Given the description of an element on the screen output the (x, y) to click on. 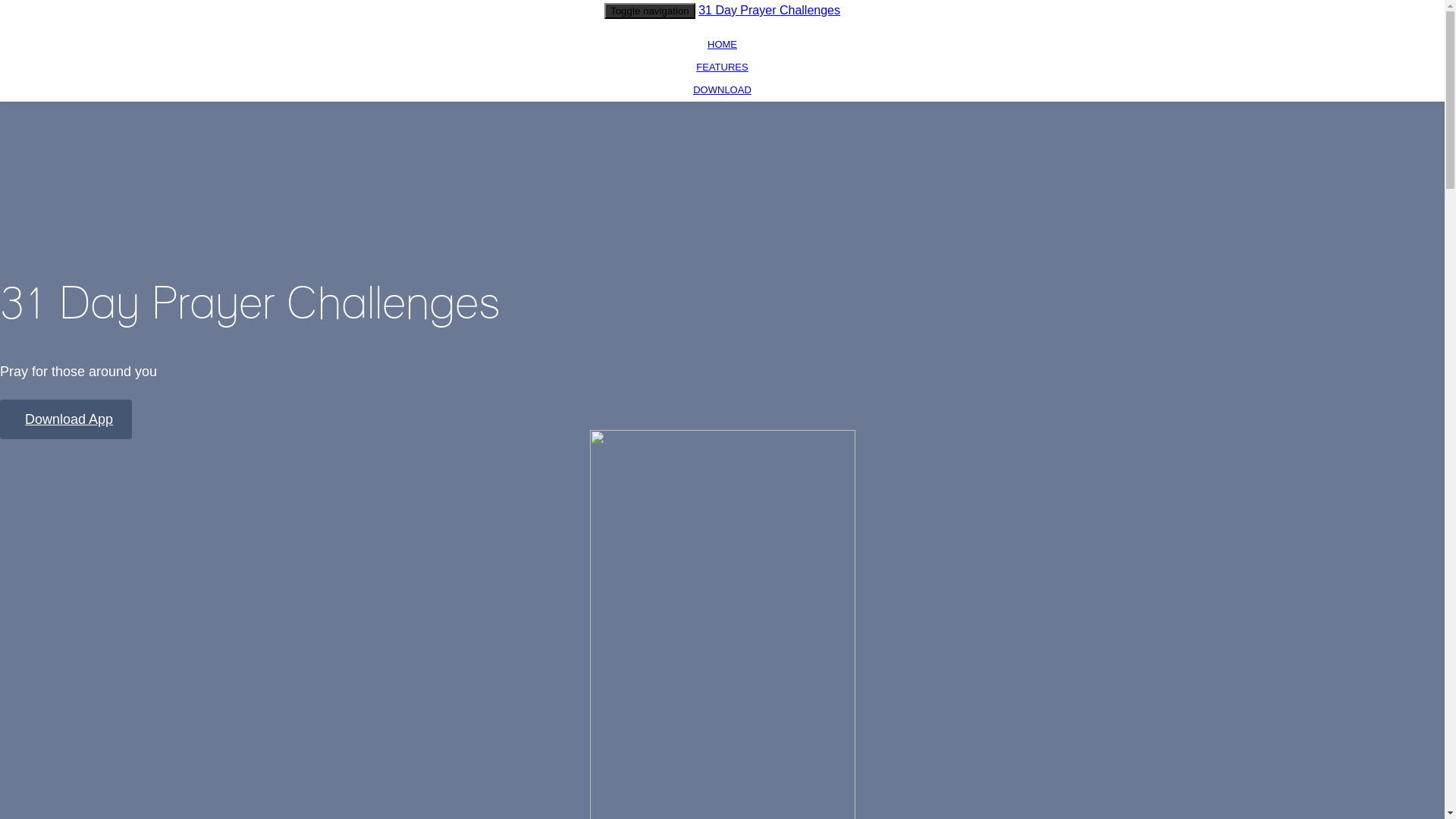
31 Day Prayer Challenges Element type: text (769, 9)
Toggle navigation Element type: text (649, 10)
HOME Element type: text (722, 44)
DOWNLOAD Element type: text (722, 89)
FEATURES Element type: text (721, 66)
Download App Element type: text (65, 419)
